Given the description of an element on the screen output the (x, y) to click on. 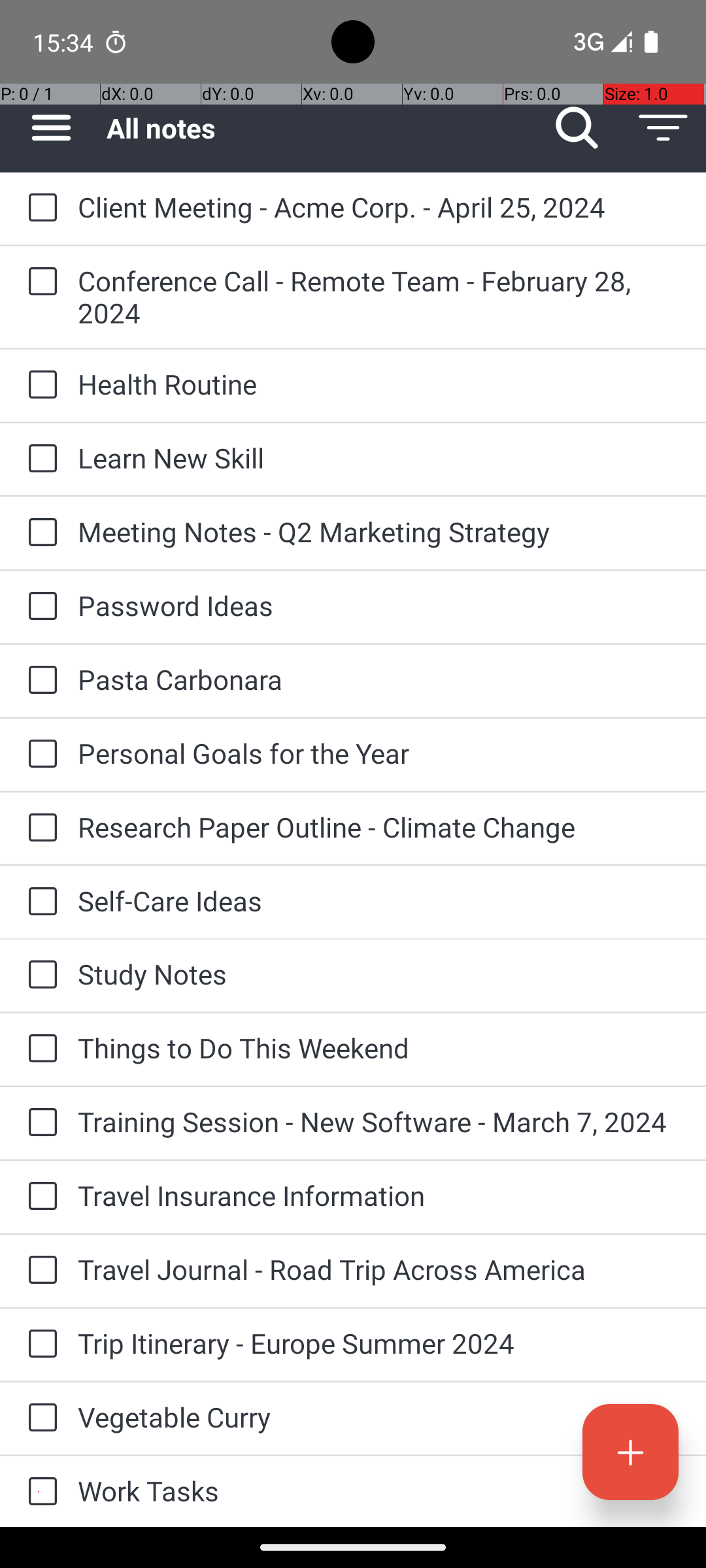
to-do: Conference Call - Remote Team - February 28, 2024 Element type: android.widget.CheckBox (38, 282)
Conference Call - Remote Team - February 28, 2024 Element type: android.widget.TextView (378, 296)
to-do: Learn New Skill Element type: android.widget.CheckBox (38, 459)
Learn New Skill Element type: android.widget.TextView (378, 457)
to-do: Meeting Notes - Q2 Marketing Strategy Element type: android.widget.CheckBox (38, 533)
Meeting Notes - Q2 Marketing Strategy Element type: android.widget.TextView (378, 531)
to-do: Password Ideas Element type: android.widget.CheckBox (38, 606)
Password Ideas Element type: android.widget.TextView (378, 604)
to-do: Pasta Carbonara Element type: android.widget.CheckBox (38, 680)
Pasta Carbonara Element type: android.widget.TextView (378, 678)
to-do: Personal Goals for the Year Element type: android.widget.CheckBox (38, 754)
to-do: Study Notes Element type: android.widget.CheckBox (38, 975)
Study Notes Element type: android.widget.TextView (378, 973)
to-do: Things to Do This Weekend Element type: android.widget.CheckBox (38, 1049)
Things to Do This Weekend Element type: android.widget.TextView (378, 1047)
to-do: Training Session - New Software - March 7, 2024 Element type: android.widget.CheckBox (38, 1123)
Training Session - New Software - March 7, 2024 Element type: android.widget.TextView (378, 1121)
to-do: Travel Insurance Information Element type: android.widget.CheckBox (38, 1196)
to-do: Travel Journal - Road Trip Across America Element type: android.widget.CheckBox (38, 1270)
to-do: Vegetable Curry Element type: android.widget.CheckBox (38, 1418)
to-do: Work Tasks Element type: android.widget.CheckBox (38, 1491)
Work Tasks Element type: android.widget.TextView (378, 1490)
